Given the description of an element on the screen output the (x, y) to click on. 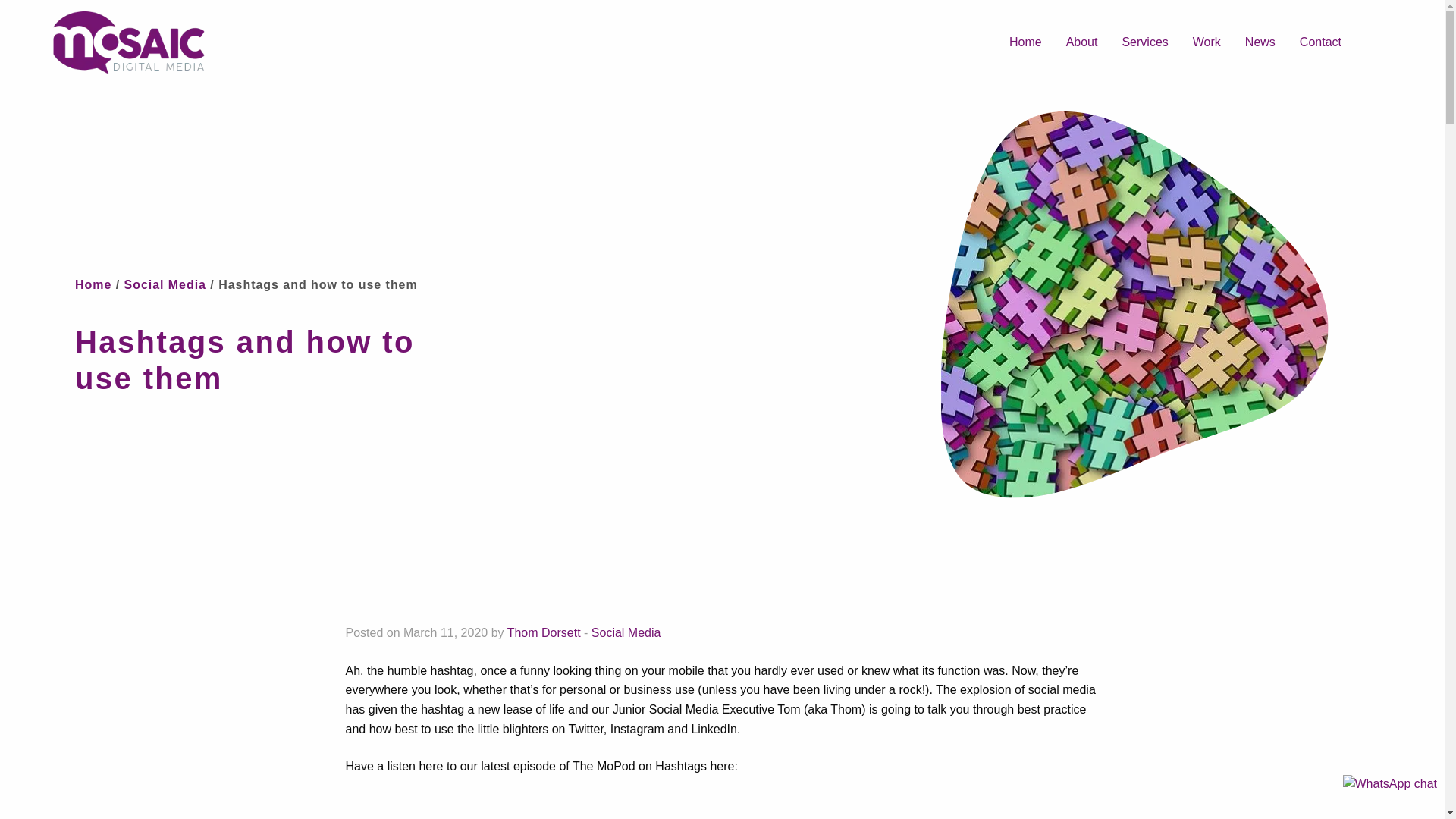
About (1081, 41)
Social Media (626, 632)
News (1260, 41)
Work (1206, 41)
Social Media (164, 284)
Home (93, 284)
Home (1025, 41)
Services (1144, 41)
Thom Dorsett (543, 632)
Contact (1320, 41)
